Given the description of an element on the screen output the (x, y) to click on. 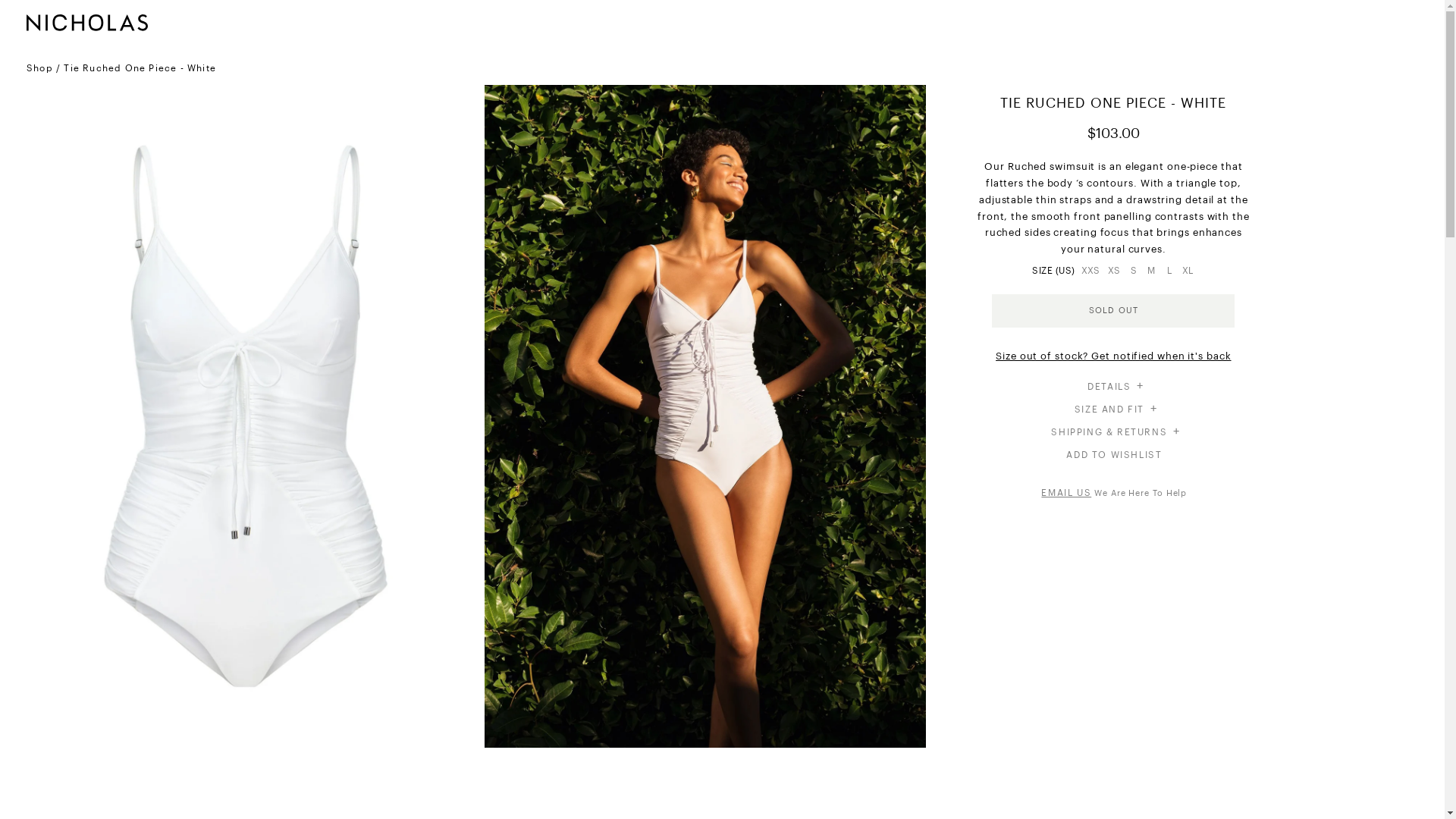
Shop Element type: text (39, 67)
Size out of stock? Get notified when it's back Element type: text (1112, 356)
ADD TO WISHLIST Element type: text (1113, 454)
EMAIL US Element type: text (1066, 492)
S Element type: text (1132, 272)
M Element type: text (1151, 272)
XXS Element type: text (1090, 272)
XS Element type: text (1113, 272)
SHIPPING & RETURNS+ Element type: text (1113, 431)
SOLD OUT Element type: text (1112, 310)
L Element type: text (1169, 272)
NICHOLAS MASTER LOGO Element type: text (86, 23)
XL Element type: text (1187, 272)
